Given the description of an element on the screen output the (x, y) to click on. 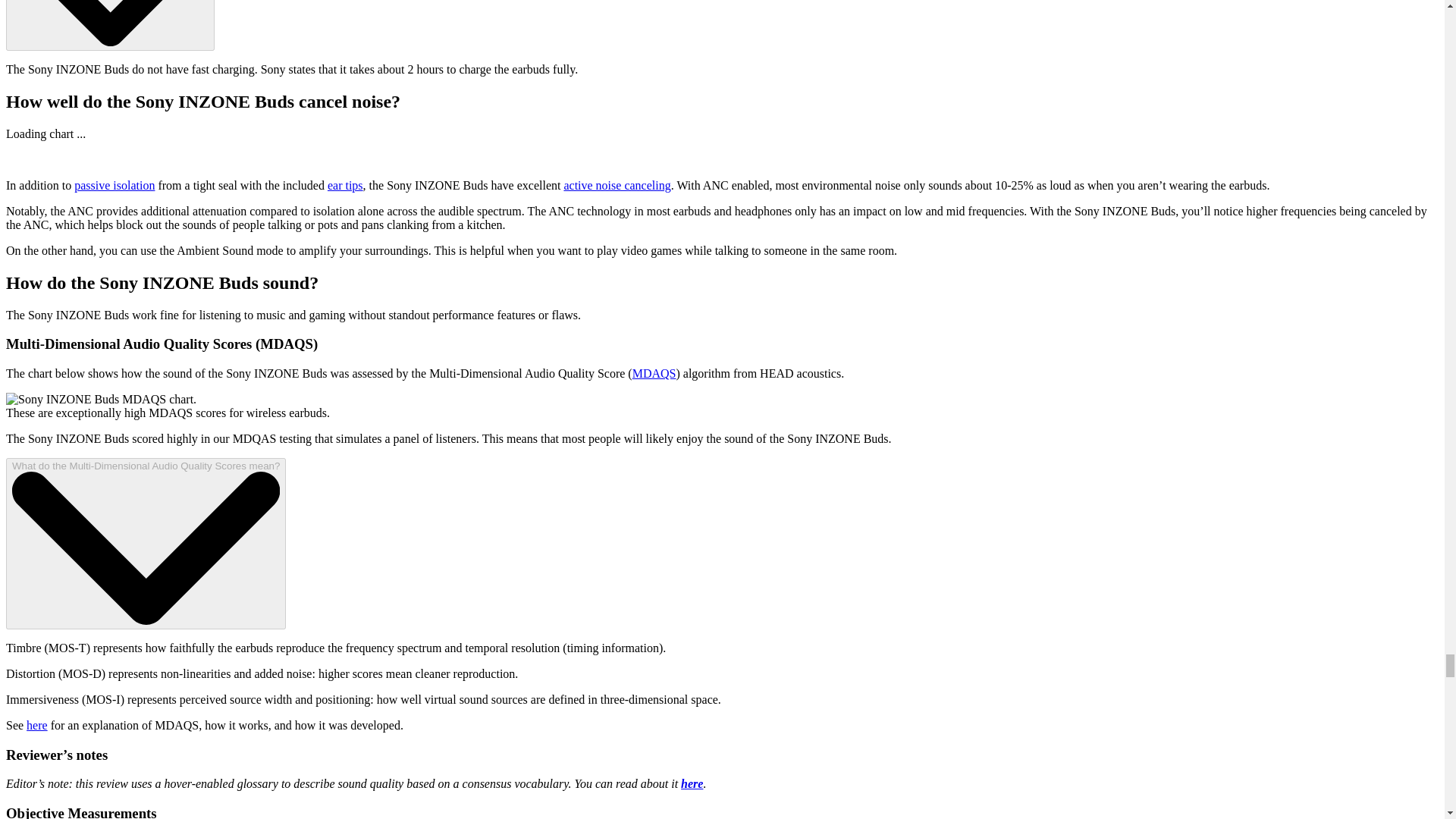
What do the Multi-Dimensional Audio Quality Scores mean? (145, 543)
MDAQS (654, 373)
Do Sony INZONE Buds have fast charging? (109, 25)
here (37, 725)
passive isolation (114, 185)
active noise canceling (616, 185)
ear tips (344, 185)
Sony WF-G700N Inzone Buds-MDAQS (100, 399)
